Given the description of an element on the screen output the (x, y) to click on. 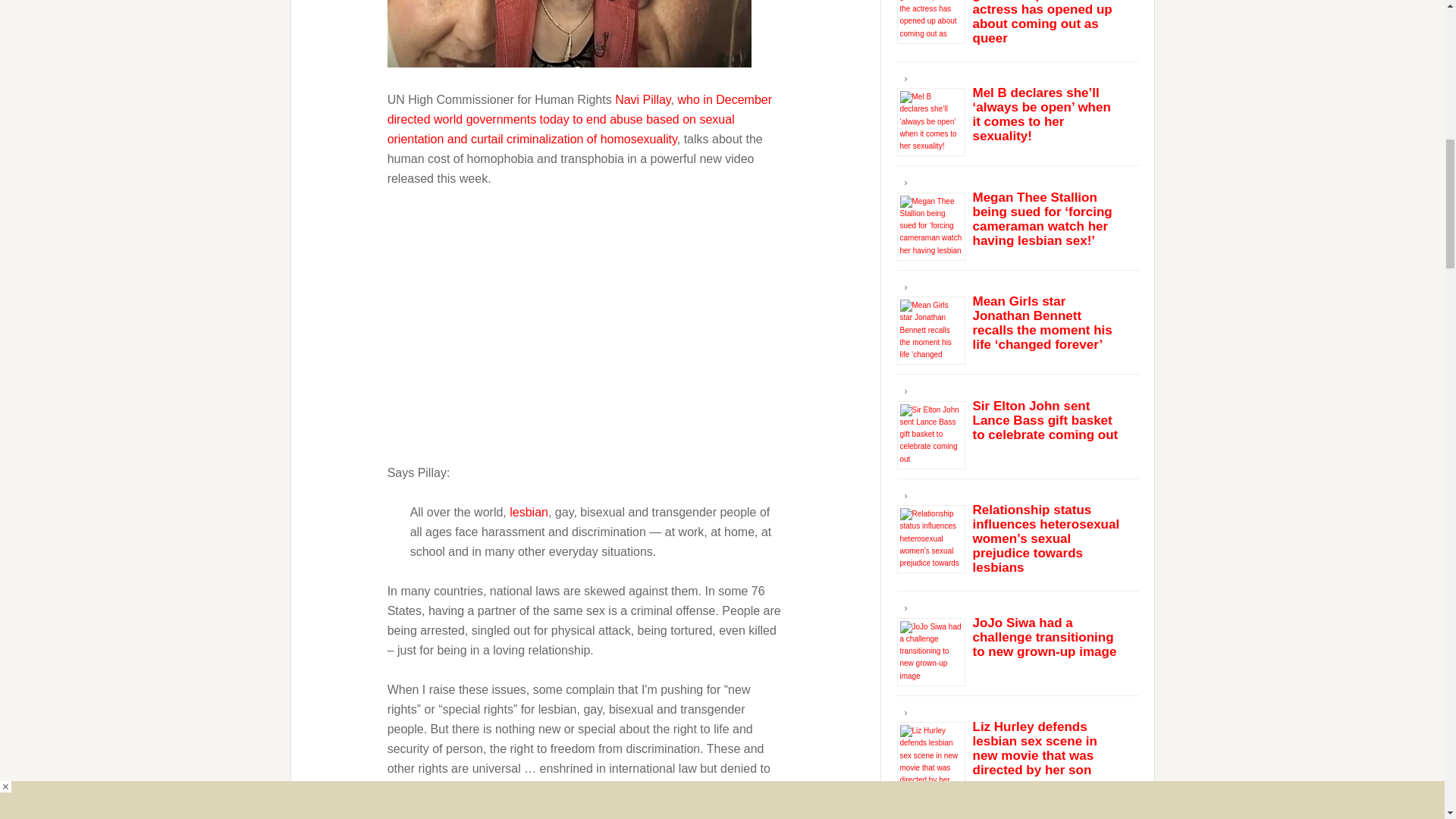
Posts tagged with Lesbian (528, 511)
Navi Pillay (642, 98)
lesbian (528, 511)
Posts tagged with Navi Pillay (642, 98)
